Given the description of an element on the screen output the (x, y) to click on. 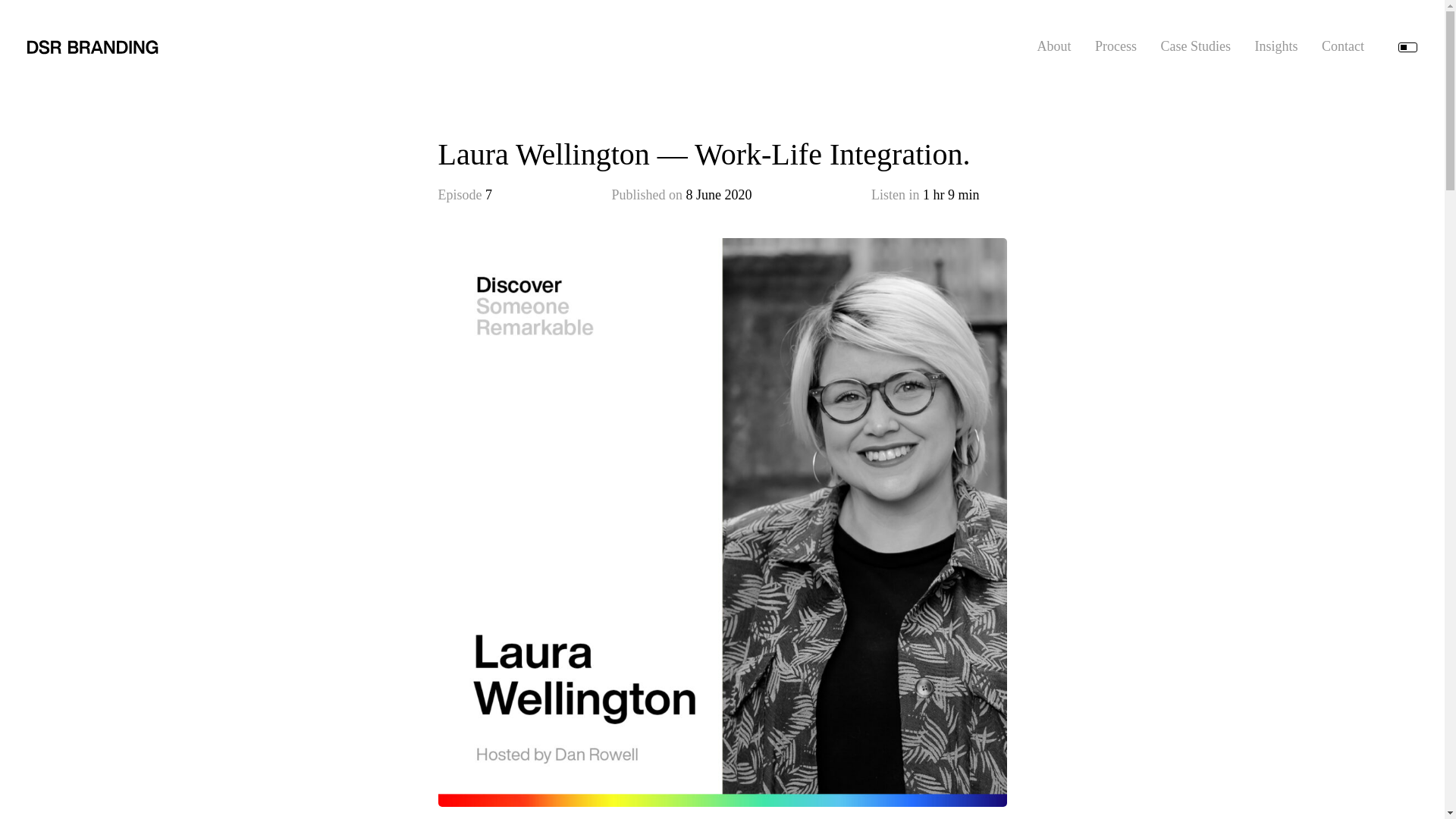
Contact (1343, 46)
Insights (1275, 46)
About (1053, 46)
Case Studies (1195, 46)
Process (1115, 46)
